Given the description of an element on the screen output the (x, y) to click on. 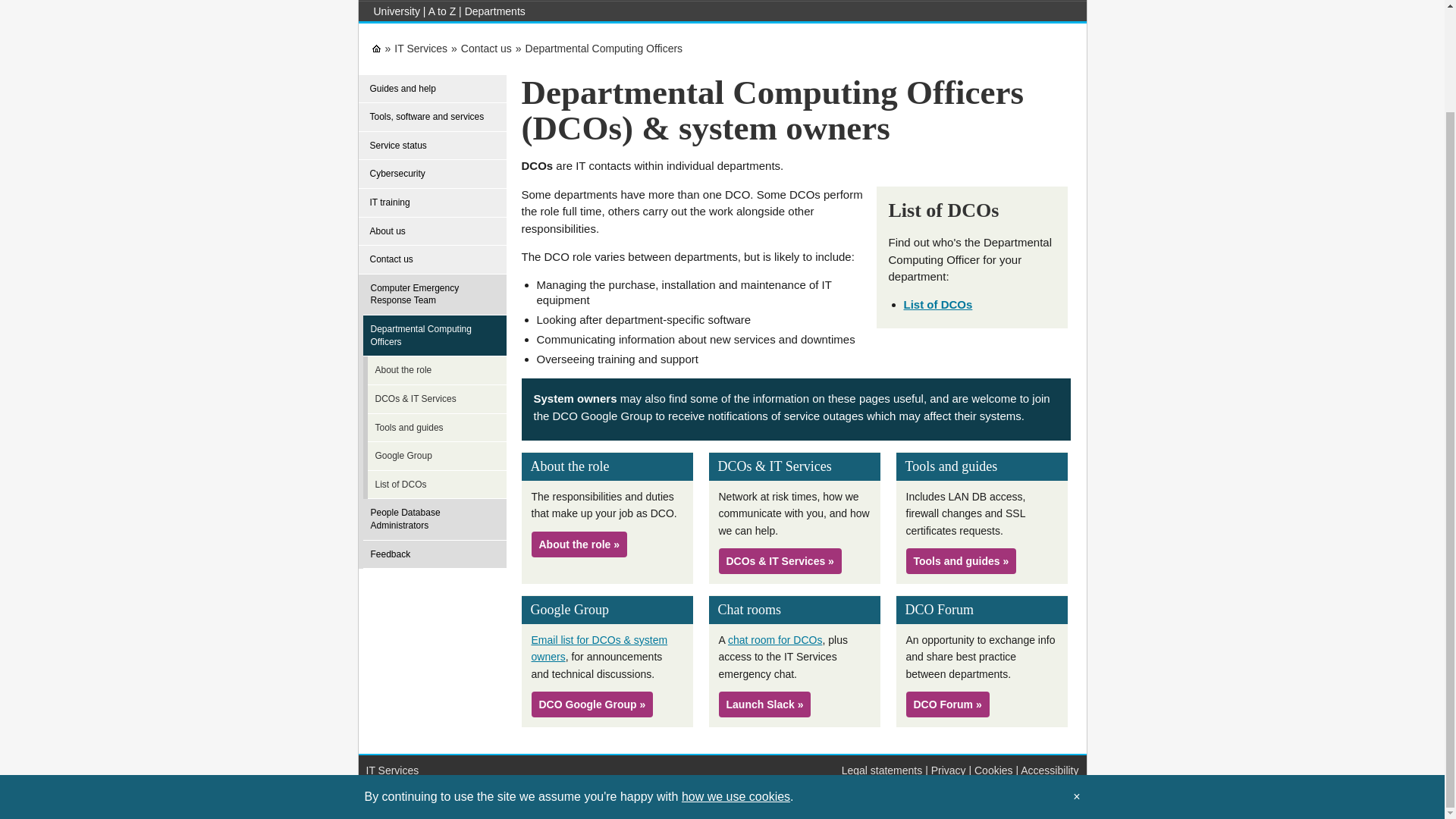
Tools and guides (440, 428)
A to Z (442, 10)
Tools, software and services (432, 117)
Contact us (486, 48)
University homepage (395, 10)
List of DCOs (938, 304)
About us (432, 231)
Departments (494, 10)
About the role (440, 370)
Computer Emergency Response Team (436, 294)
